Given the description of an element on the screen output the (x, y) to click on. 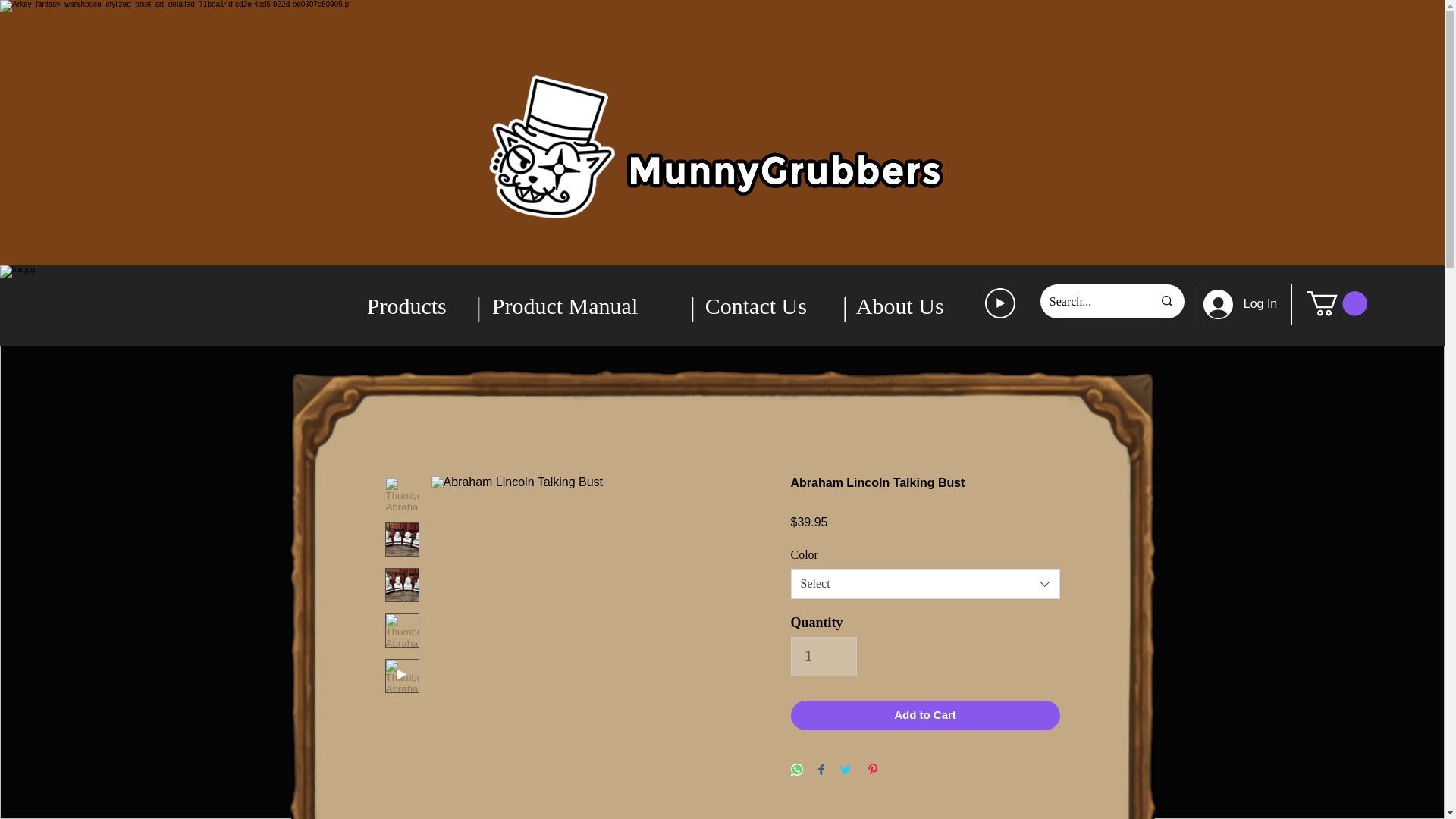
1 (823, 656)
Contact Us (769, 305)
Select (924, 583)
Add to Cart (924, 715)
Product Manual (587, 305)
Products (417, 305)
Log In (1234, 304)
About Us (909, 305)
